Given the description of an element on the screen output the (x, y) to click on. 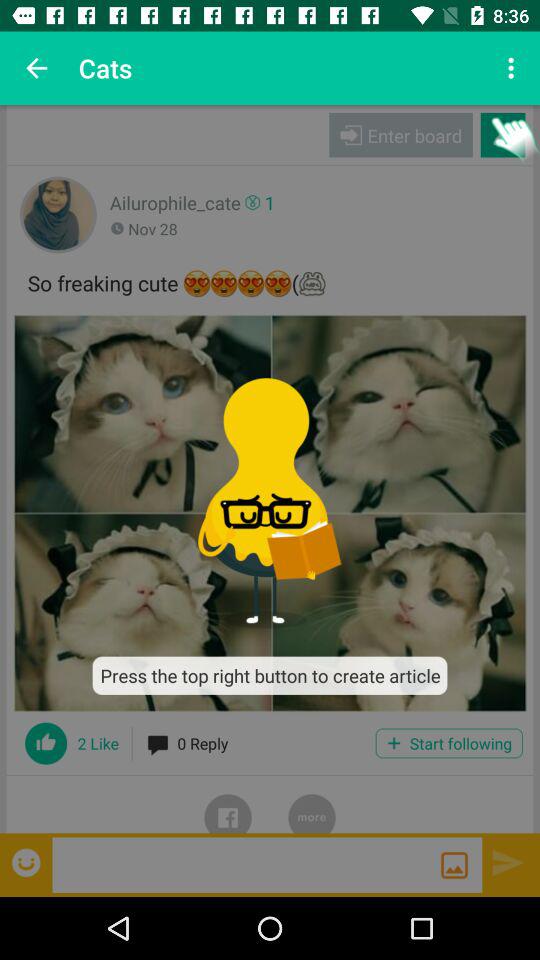
launch the icon to the left of cats (36, 68)
